Given the description of an element on the screen output the (x, y) to click on. 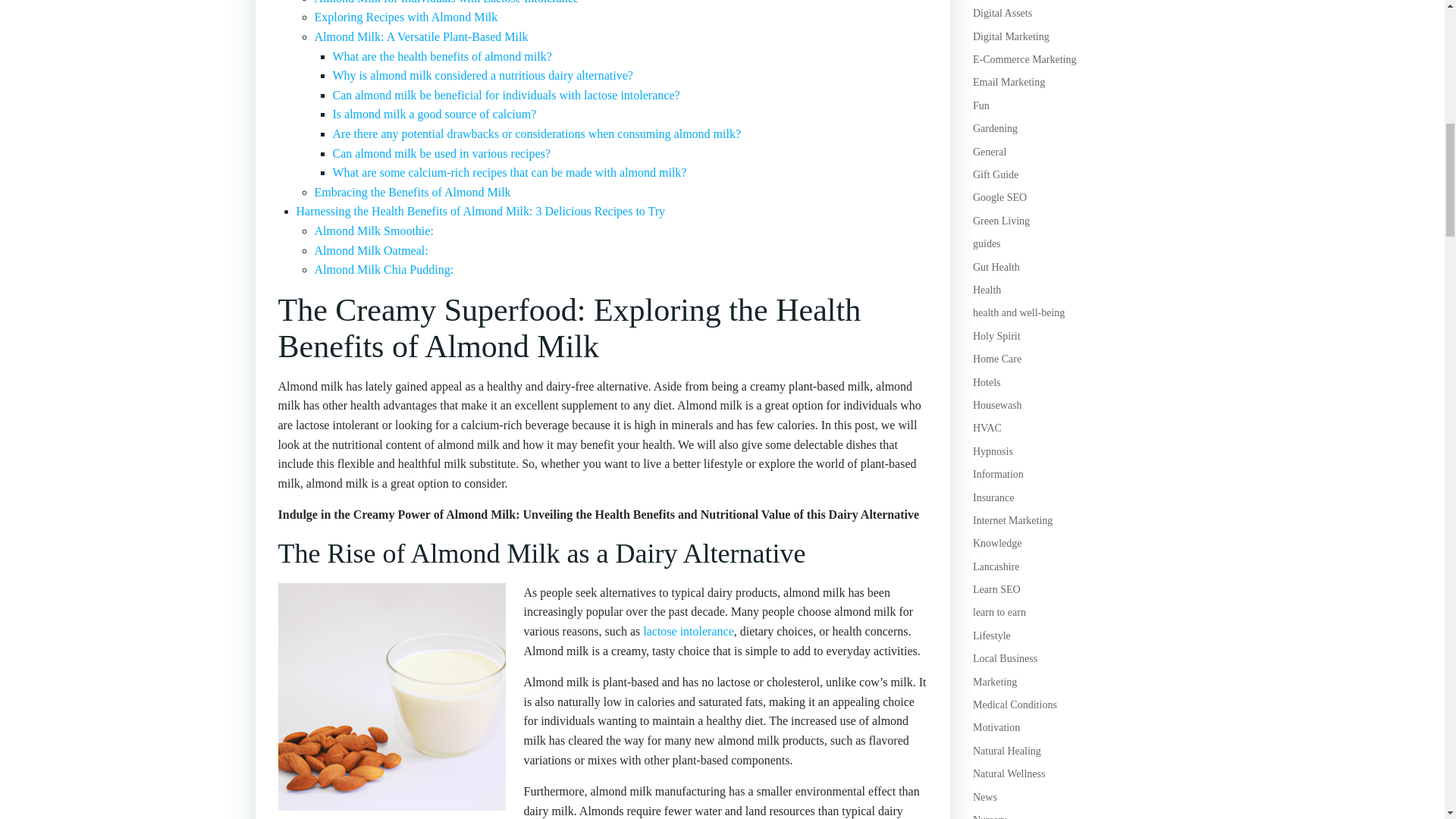
Exploring Recipes with Almond Milk (405, 16)
Almond Milk for Individuals with Lactose Intolerance (446, 2)
Is almond milk a good source of calcium? (433, 113)
Exploring Recipes with Almond Milk (405, 16)
Almond Milk for Individuals with Lactose Intolerance (446, 2)
Can almond milk be used in various recipes? (440, 153)
Almond Milk: A Versatile Plant-Based Milk (420, 36)
Almond Milk Oatmeal: (371, 250)
What are the health benefits of almond milk? (441, 56)
Almond Milk Smoothie: (373, 230)
Embracing the Benefits of Almond Milk (412, 192)
